Given the description of an element on the screen output the (x, y) to click on. 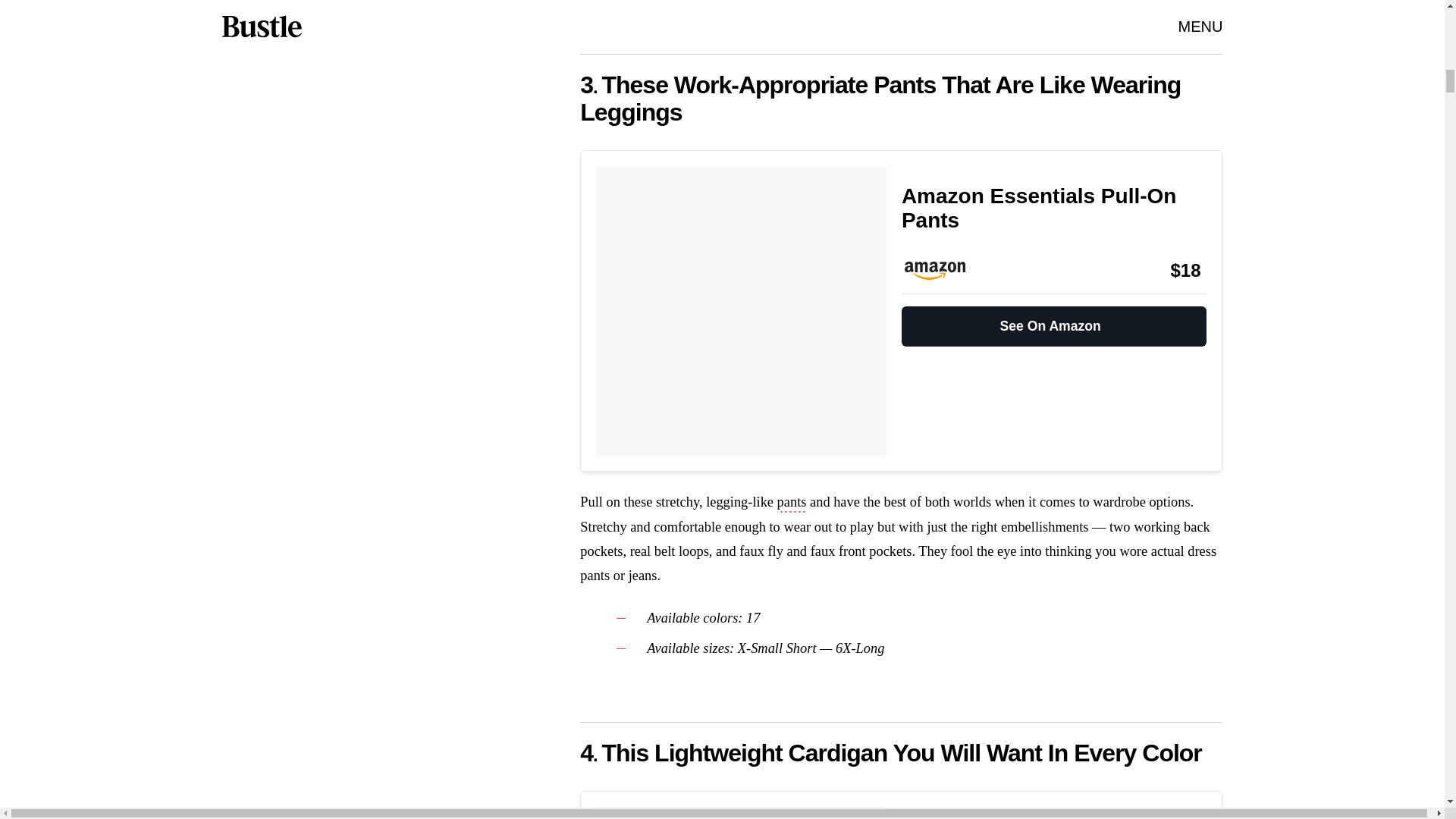
See On Amazon (1054, 319)
pants (791, 503)
Amazon  (941, 270)
